Given the description of an element on the screen output the (x, y) to click on. 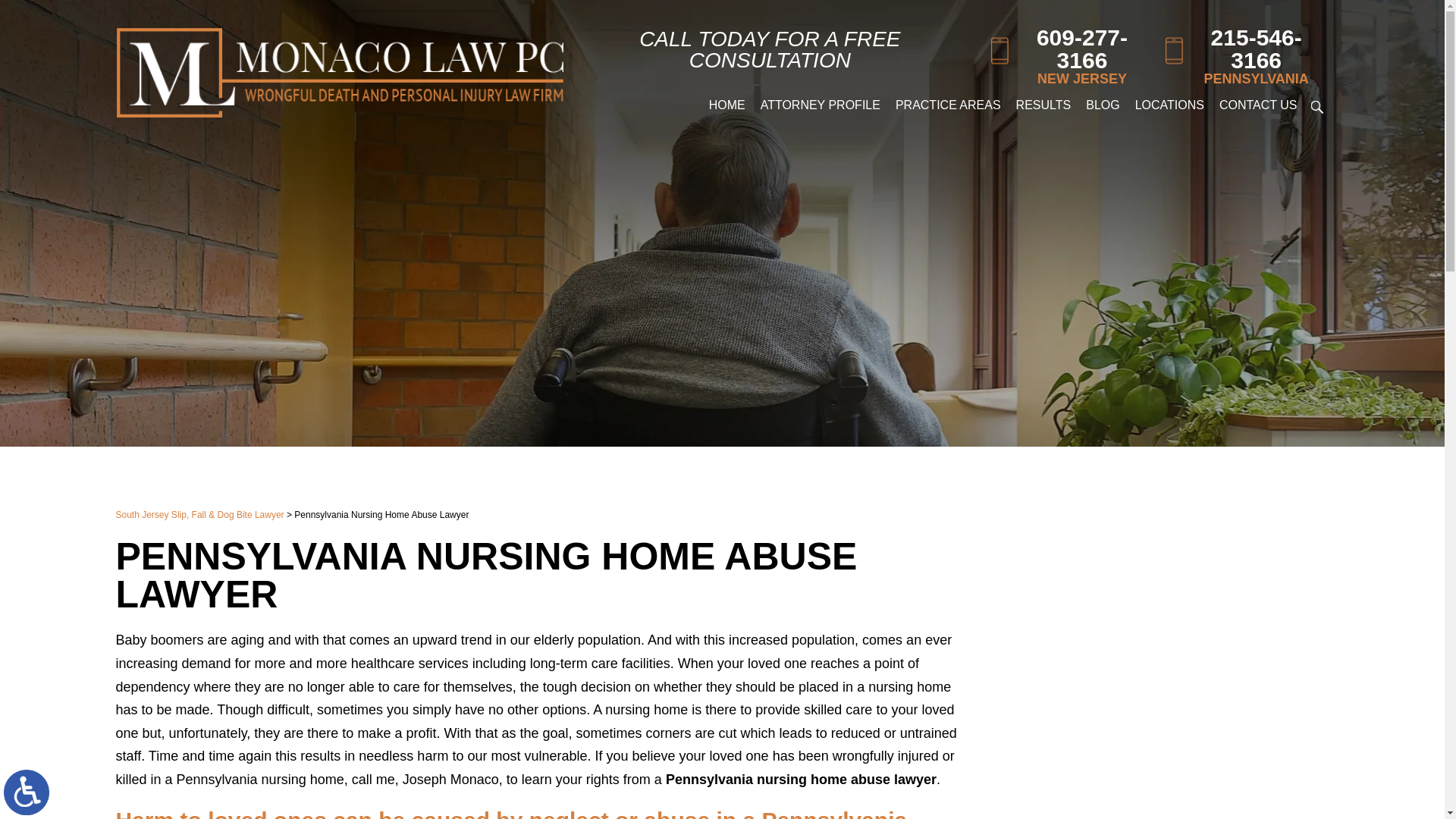
ATTORNEY PROFILE (820, 105)
RESULTS (1043, 105)
PRACTICE AREAS (948, 105)
Switch to ADA Accessible Theme (26, 791)
HOME (726, 105)
609-277-3166 (1070, 48)
215-546-3166 (1243, 48)
